Given the description of an element on the screen output the (x, y) to click on. 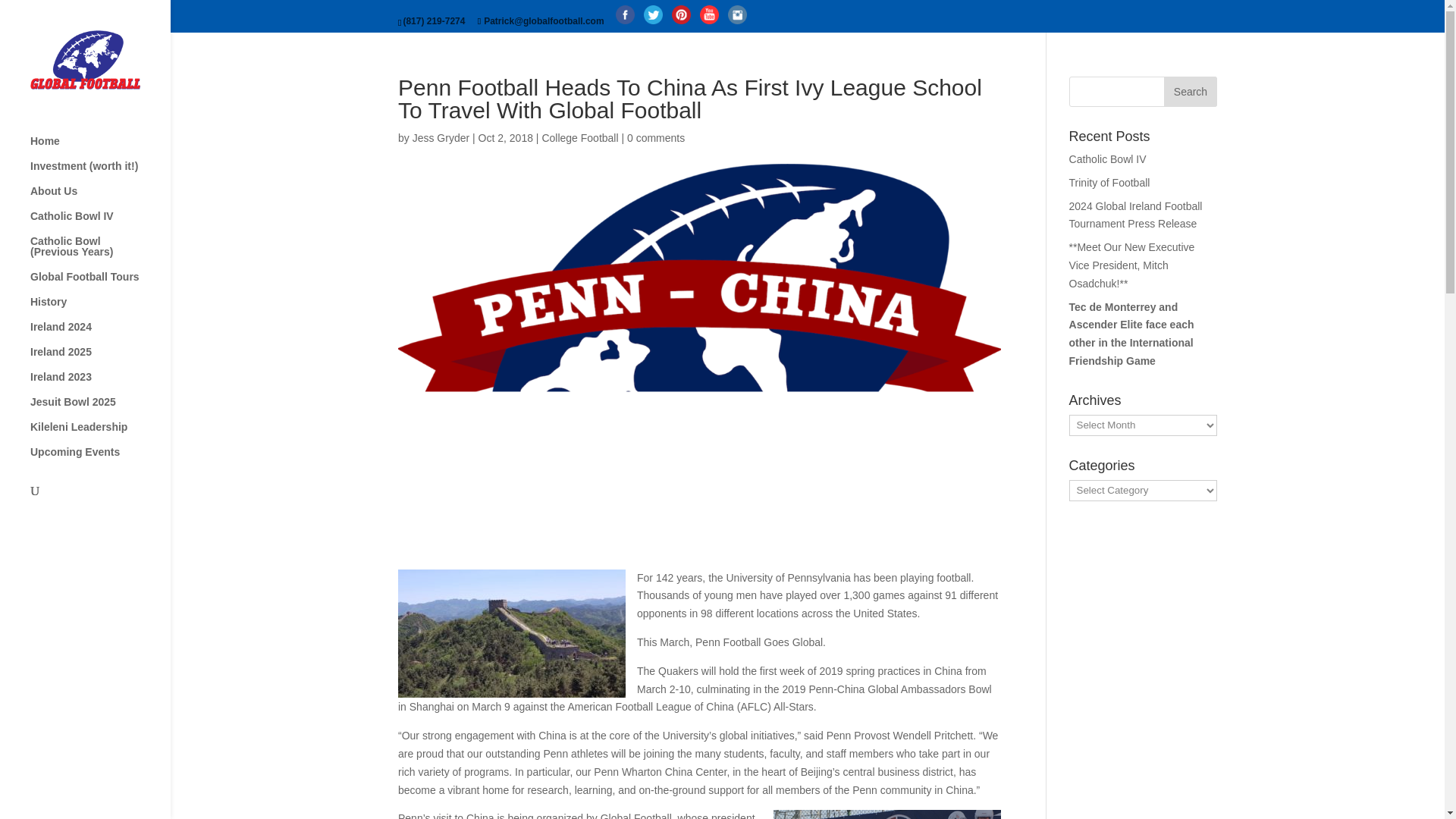
Home (100, 147)
Posts by Jess Gryder (440, 137)
About Us (100, 197)
Catholic Bowl IV (100, 222)
Search (1190, 91)
